Given the description of an element on the screen output the (x, y) to click on. 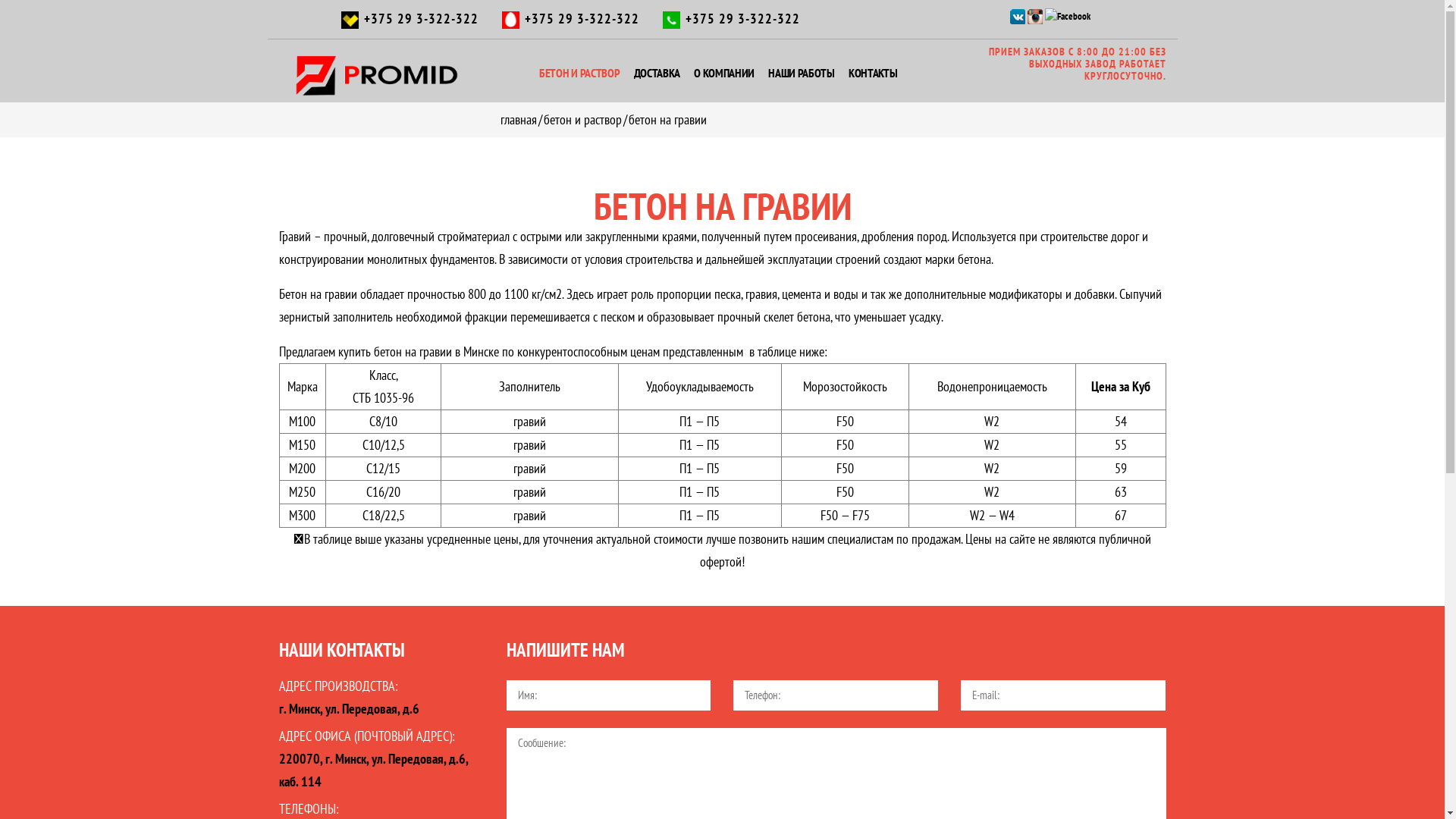
+375 29 3-322-322 Element type: text (742, 18)
+375 29 3-322-322 Element type: text (581, 18)
+375 29 3-322-322 Element type: text (421, 18)
